Given the description of an element on the screen output the (x, y) to click on. 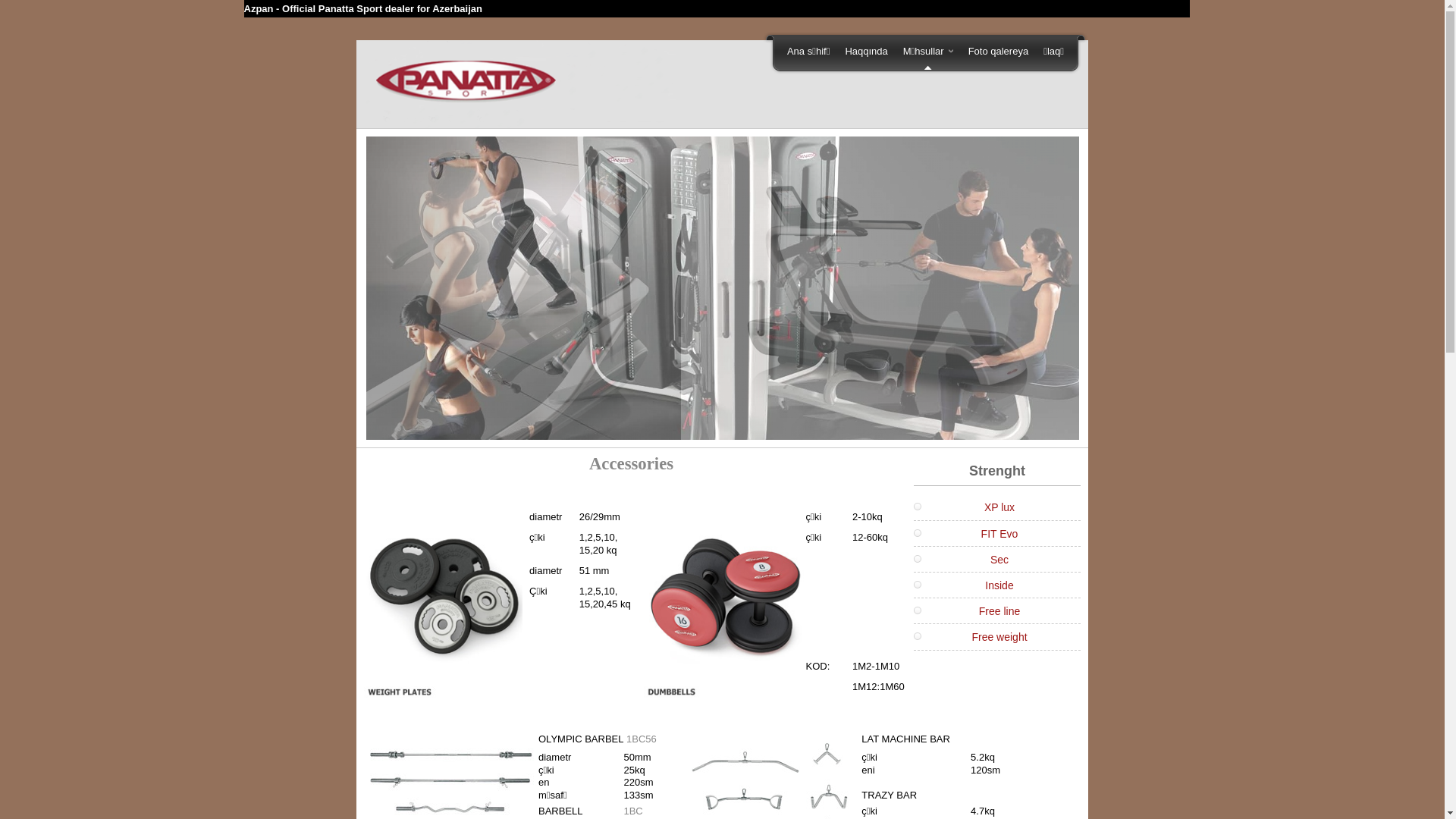
Inside Element type: text (999, 585)
Sec Element type: text (999, 559)
Foto qalereya Element type: text (998, 50)
Free weight Element type: text (998, 636)
Panattasport.az Element type: hover (520, 84)
FIT Evo Element type: text (999, 533)
Free line Element type: text (999, 611)
XP lux Element type: text (999, 507)
